Given the description of an element on the screen output the (x, y) to click on. 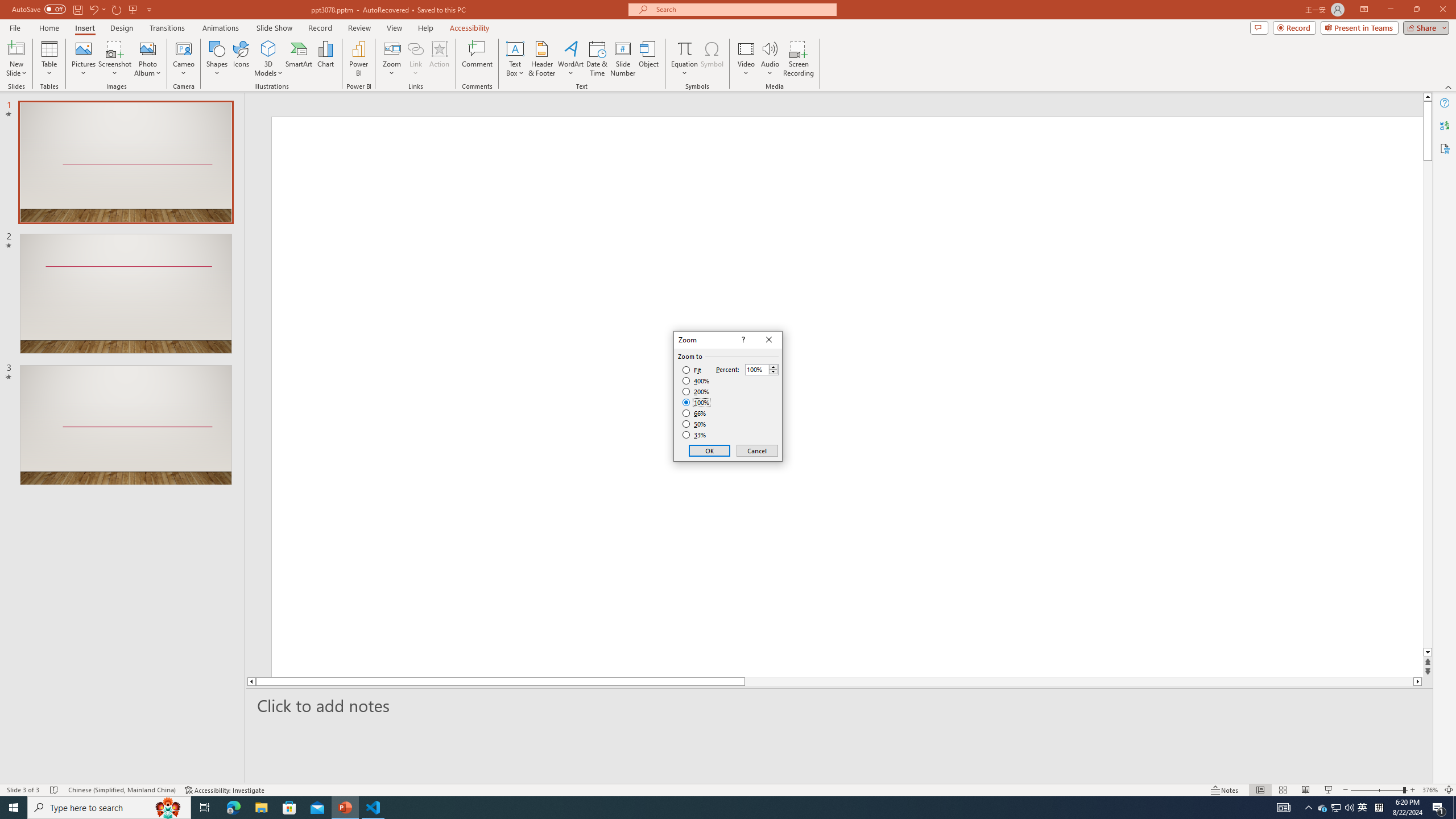
400% (696, 380)
33% (694, 434)
